Given the description of an element on the screen output the (x, y) to click on. 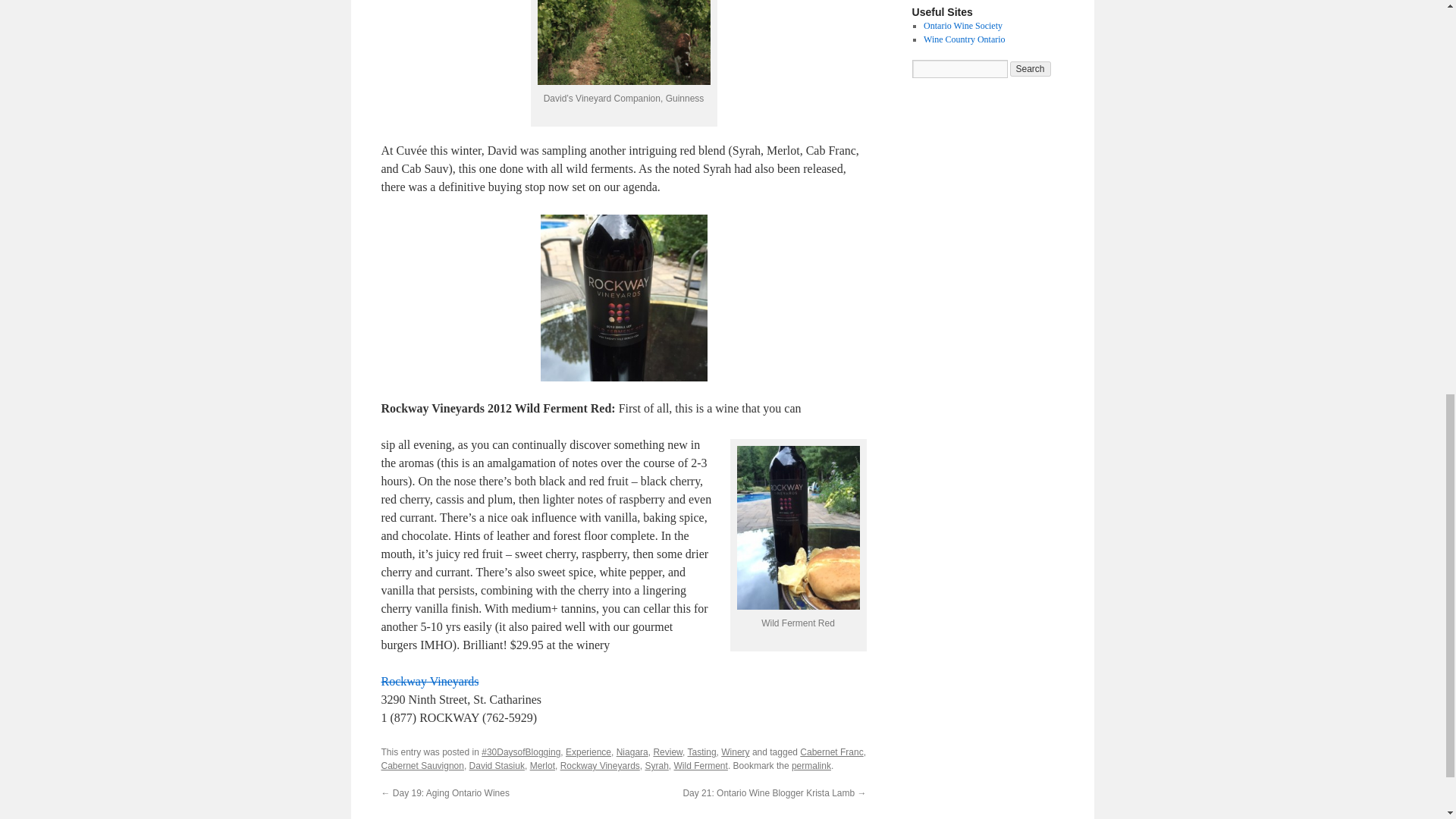
Syrah (656, 765)
Merlot (541, 765)
Niagara (631, 751)
Rockway Vineyards (600, 765)
Rockway Vineyards (429, 680)
David Stasiuk (496, 765)
Search (1030, 68)
permalink (811, 765)
Cabernet Sauvignon (421, 765)
Wild Ferment (701, 765)
Winery (734, 751)
Review (667, 751)
Cabernet Franc (831, 751)
Tasting (701, 751)
Experience (588, 751)
